Given the description of an element on the screen output the (x, y) to click on. 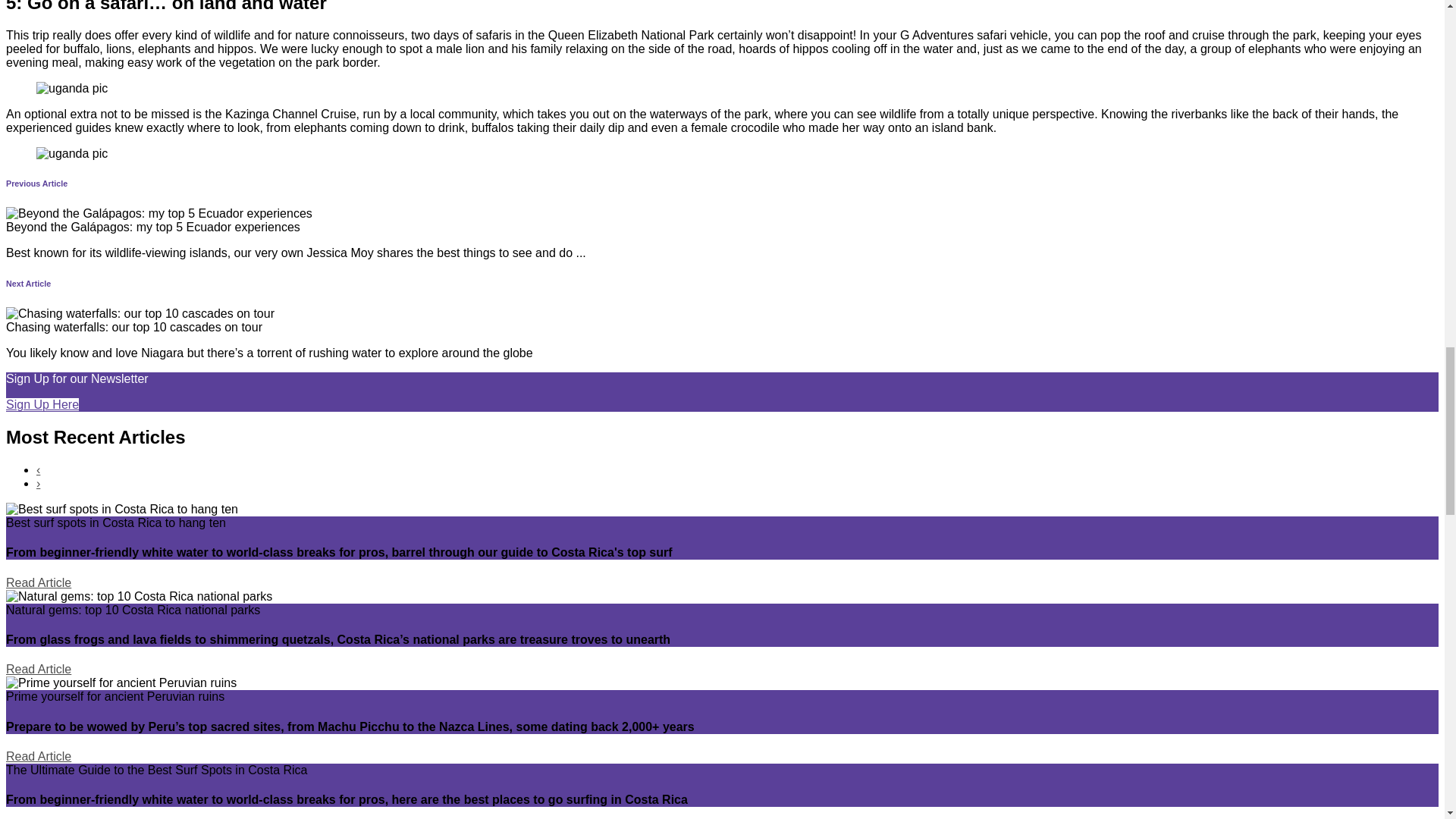
Read Article (38, 668)
Read Article (38, 756)
Sign Up Here (41, 404)
Read Article (38, 582)
